Given the description of an element on the screen output the (x, y) to click on. 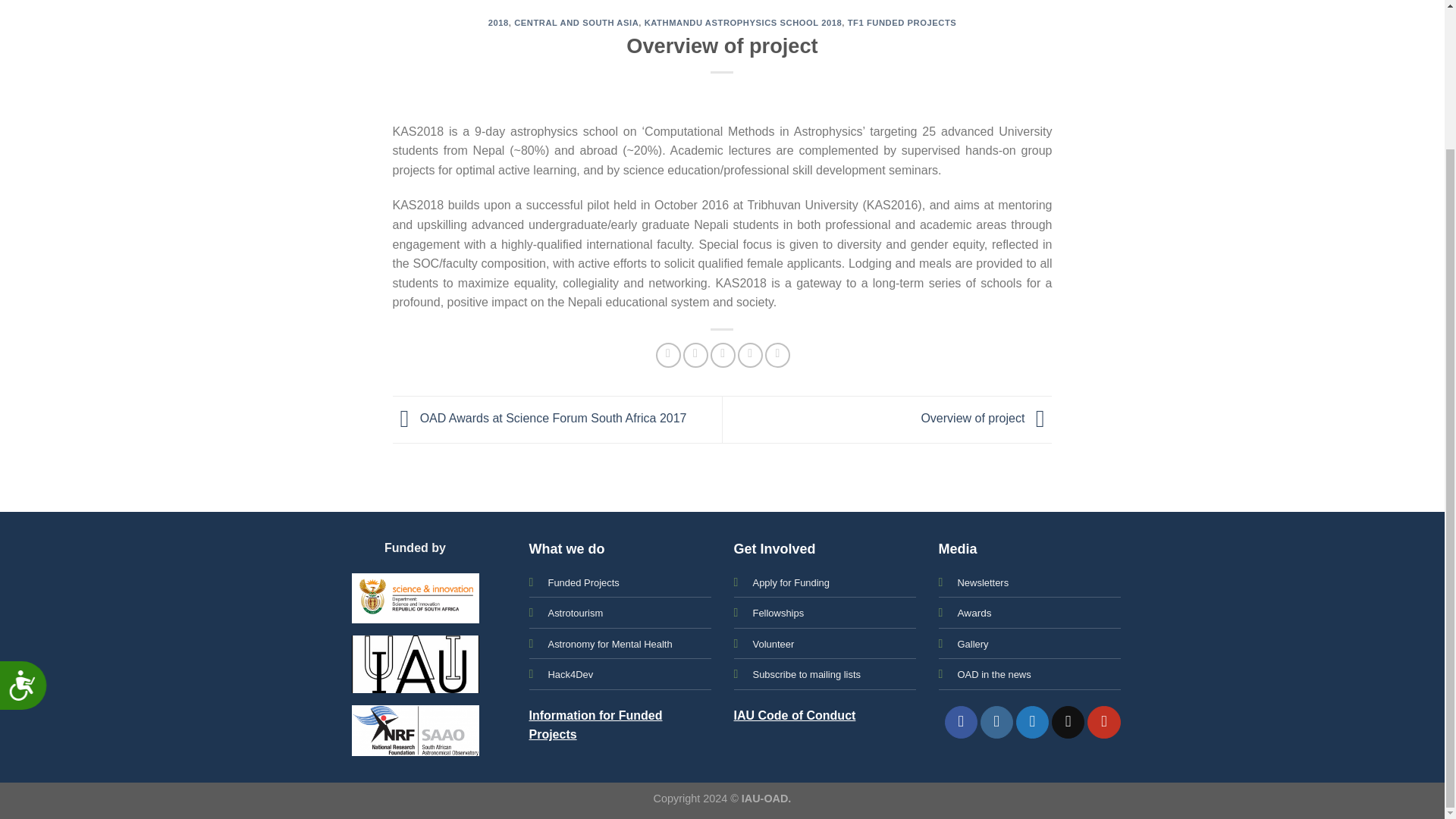
Email to a Friend (722, 355)
Follow on Facebook (960, 721)
Share on LinkedIn (777, 355)
Follow on Twitter (1032, 721)
Share on Facebook (668, 355)
Follow on YouTube (1103, 721)
Send us an email (1067, 721)
Follow on Instagram (996, 721)
Share on Twitter (694, 355)
2018 (497, 22)
